Given the description of an element on the screen output the (x, y) to click on. 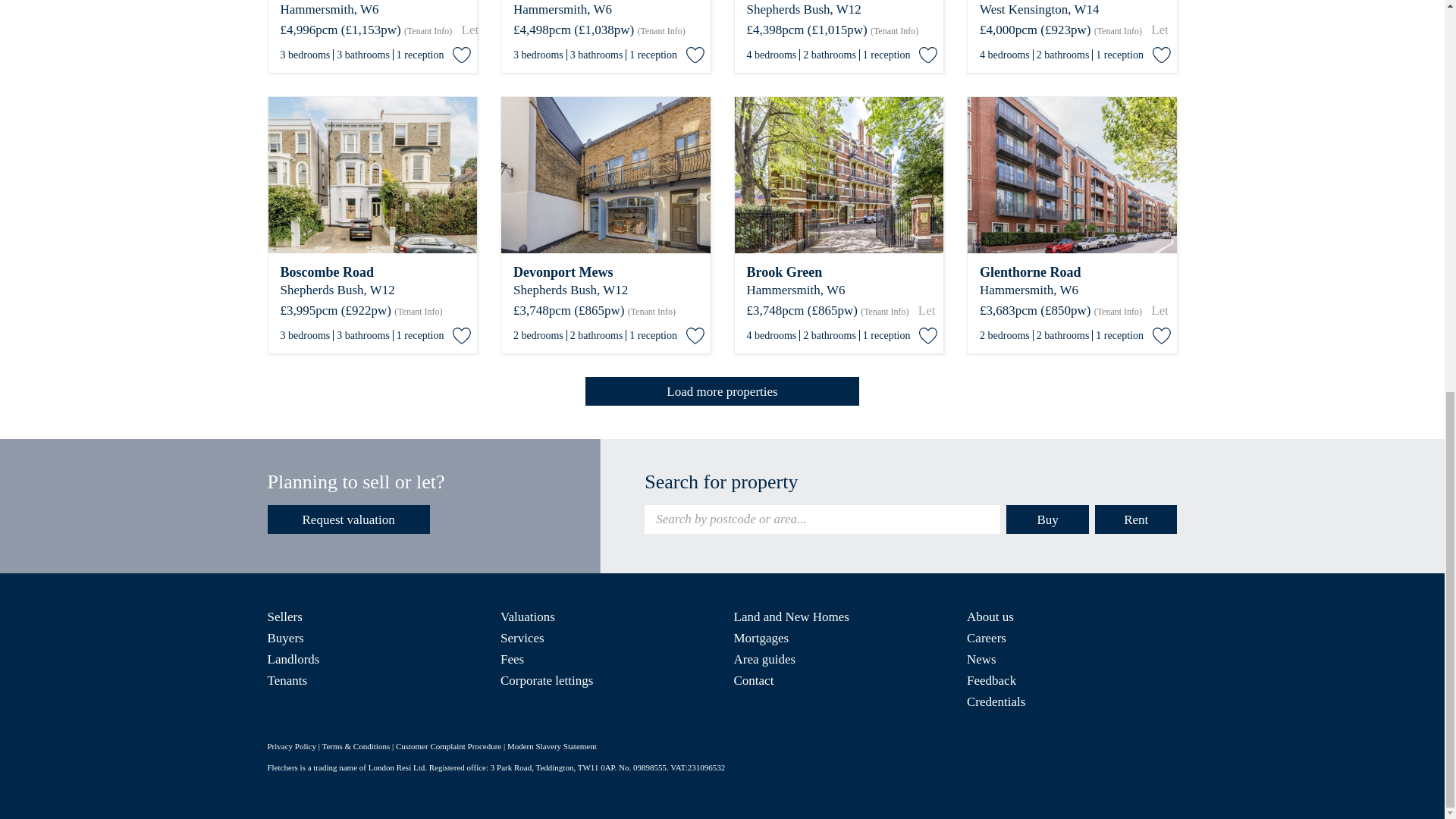
Tenant Info (427, 30)
